Given the description of an element on the screen output the (x, y) to click on. 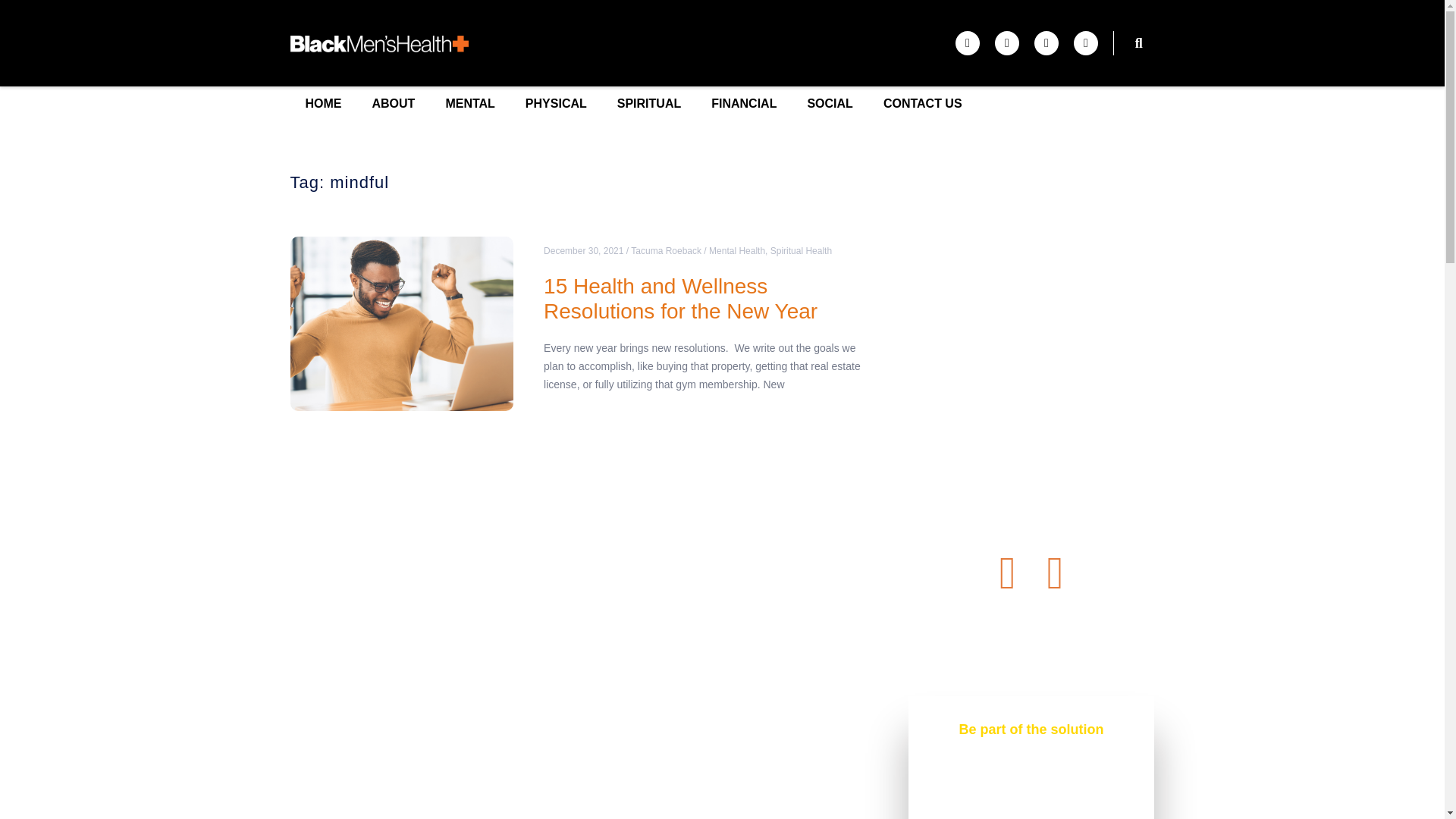
MENTAL (469, 103)
FINANCIAL (743, 103)
SPIRITUAL (648, 103)
ABOUT (392, 103)
PHYSICAL (556, 103)
HOME (322, 103)
